Given the description of an element on the screen output the (x, y) to click on. 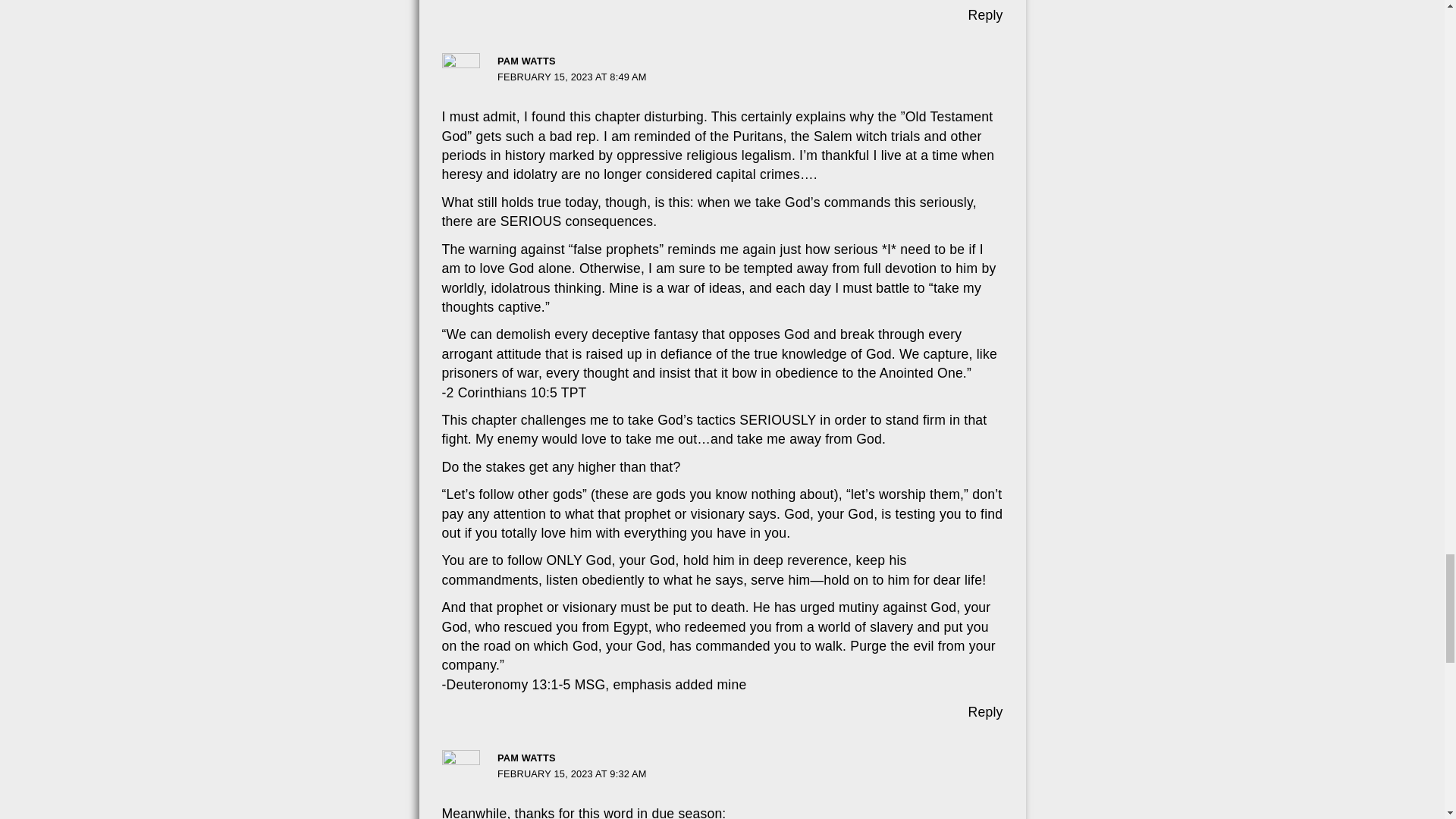
Reply (985, 711)
Reply (985, 14)
FEBRUARY 15, 2023 AT 8:49 AM (571, 76)
FEBRUARY 15, 2023 AT 9:32 AM (571, 773)
PAM WATTS (526, 60)
PAM WATTS (526, 757)
